Given the description of an element on the screen output the (x, y) to click on. 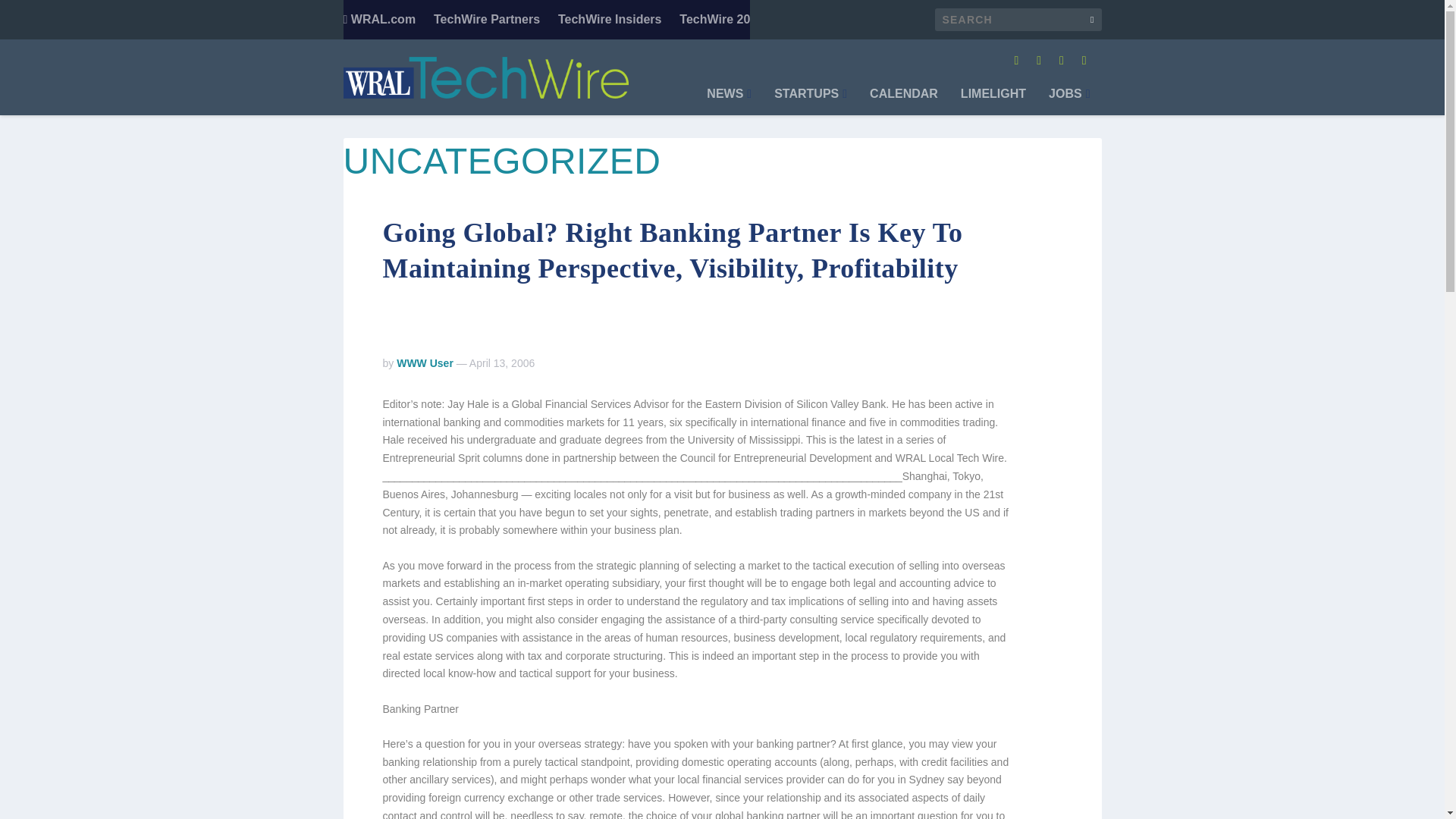
Search for: (1017, 19)
TechWire Partners (486, 19)
TechWire Insiders (609, 19)
LIMELIGHT (993, 101)
NEWS (728, 101)
STARTUPS (810, 101)
TechWire 20 (714, 19)
JOBS (1068, 101)
CALENDAR (903, 101)
WRAL.com (378, 19)
